Given the description of an element on the screen output the (x, y) to click on. 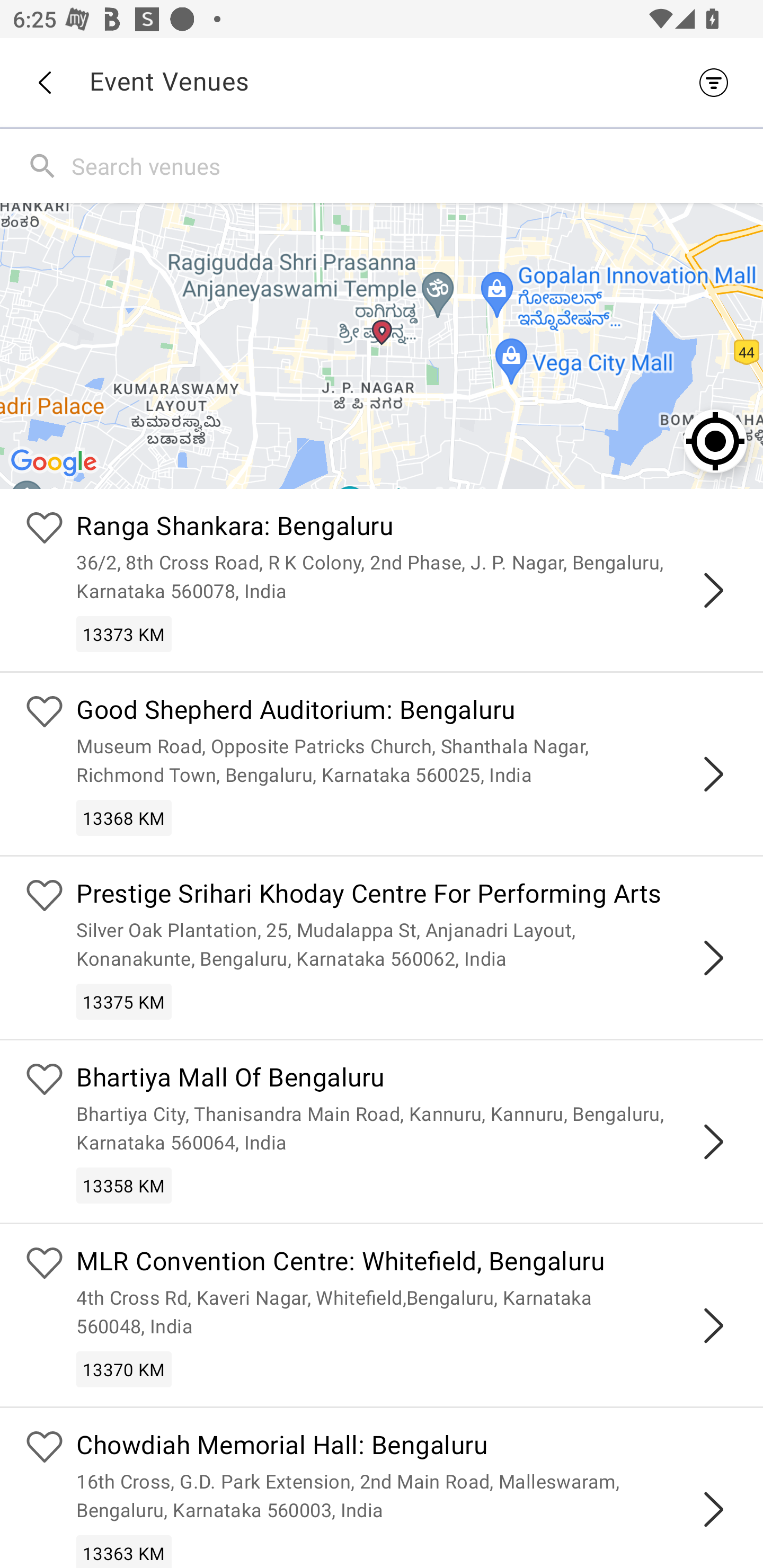
Back Event Venues Filter (381, 82)
Filter (718, 82)
Back (44, 82)
Search venues (413, 165)
Google Map Ranga Shankara: Bengaluru (381, 345)
Ranga Shankara: Bengaluru (406, 528)
 (713, 590)
13373 KM (123, 634)
Good Shepherd Auditorium: Bengaluru (406, 711)
 (713, 773)
13368 KM (123, 817)
Prestige Srihari Khoday Centre For Performing Arts (406, 894)
 (713, 957)
13375 KM (123, 1001)
Bhartiya Mall Of Bengaluru (406, 1079)
 (713, 1141)
13358 KM (123, 1186)
MLR Convention Centre: Whitefield, Bengaluru (406, 1263)
 (713, 1325)
13370 KM (123, 1369)
Chowdiah Memorial Hall: Bengaluru (406, 1446)
 (713, 1508)
13363 KM (123, 1551)
